Given the description of an element on the screen output the (x, y) to click on. 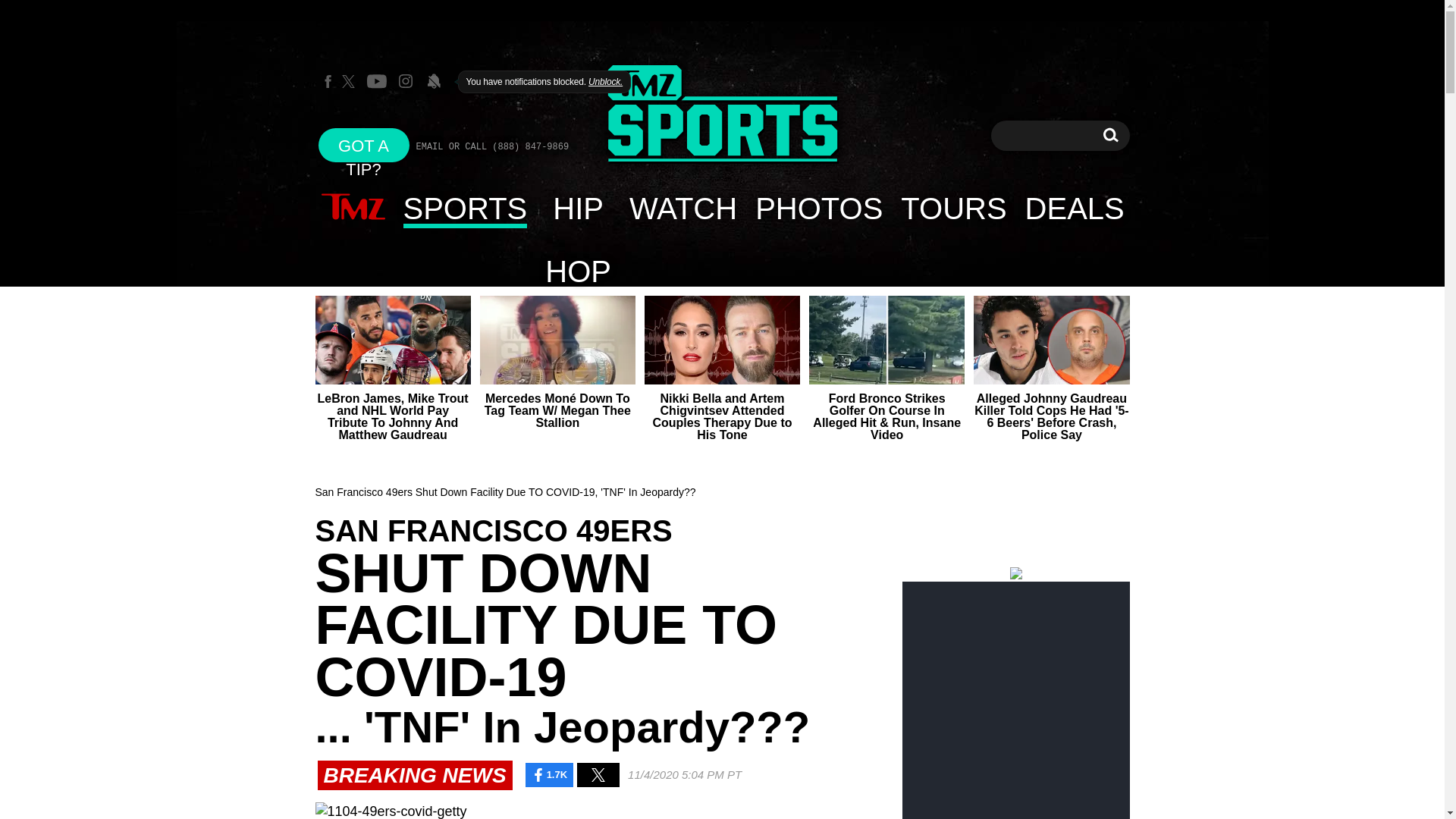
SPORTS (465, 207)
TMZ Sports (722, 113)
PHOTOS (818, 207)
GOT A TIP? (363, 144)
TMZ Sports (722, 115)
NEWS (353, 207)
Search (1110, 134)
DEALS (1075, 207)
